Given the description of an element on the screen output the (x, y) to click on. 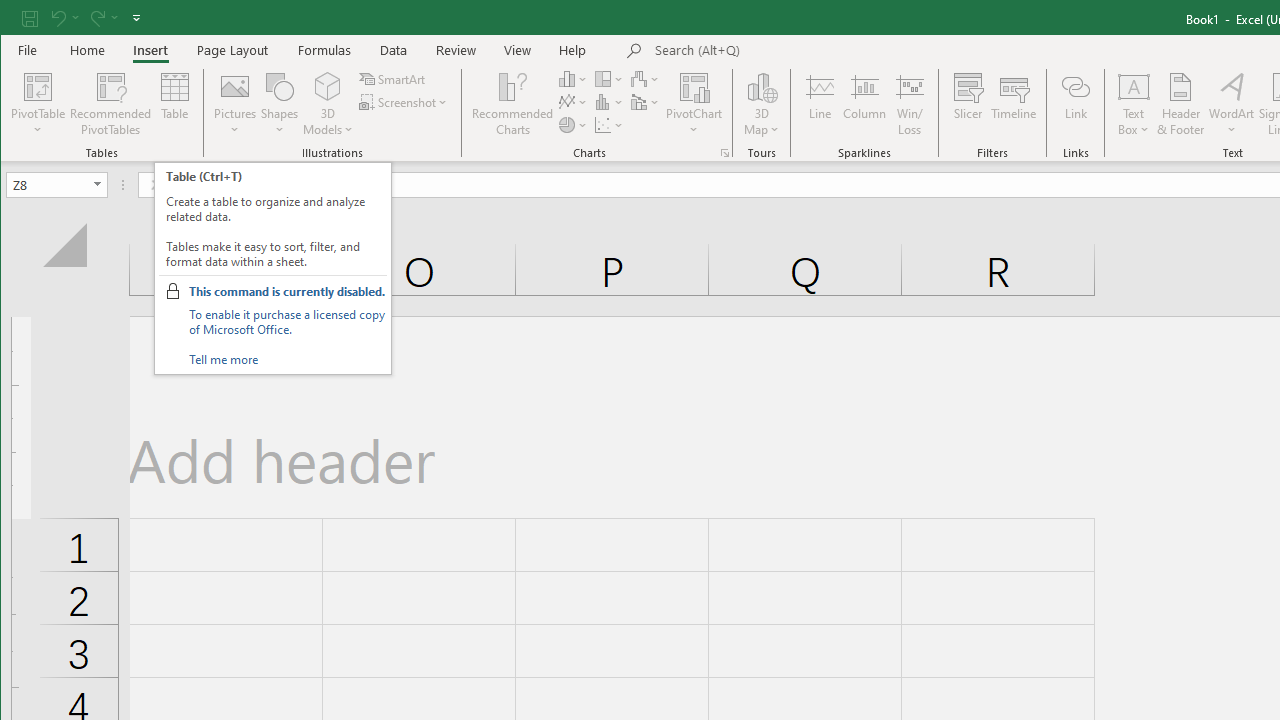
Screenshot (404, 101)
3D Map (762, 104)
Slicer... (968, 104)
Insert Pie or Doughnut Chart (573, 124)
Pictures (235, 104)
PivotTable (37, 104)
Recommended Charts (724, 152)
Header & Footer... (1180, 104)
Column (864, 104)
